Given the description of an element on the screen output the (x, y) to click on. 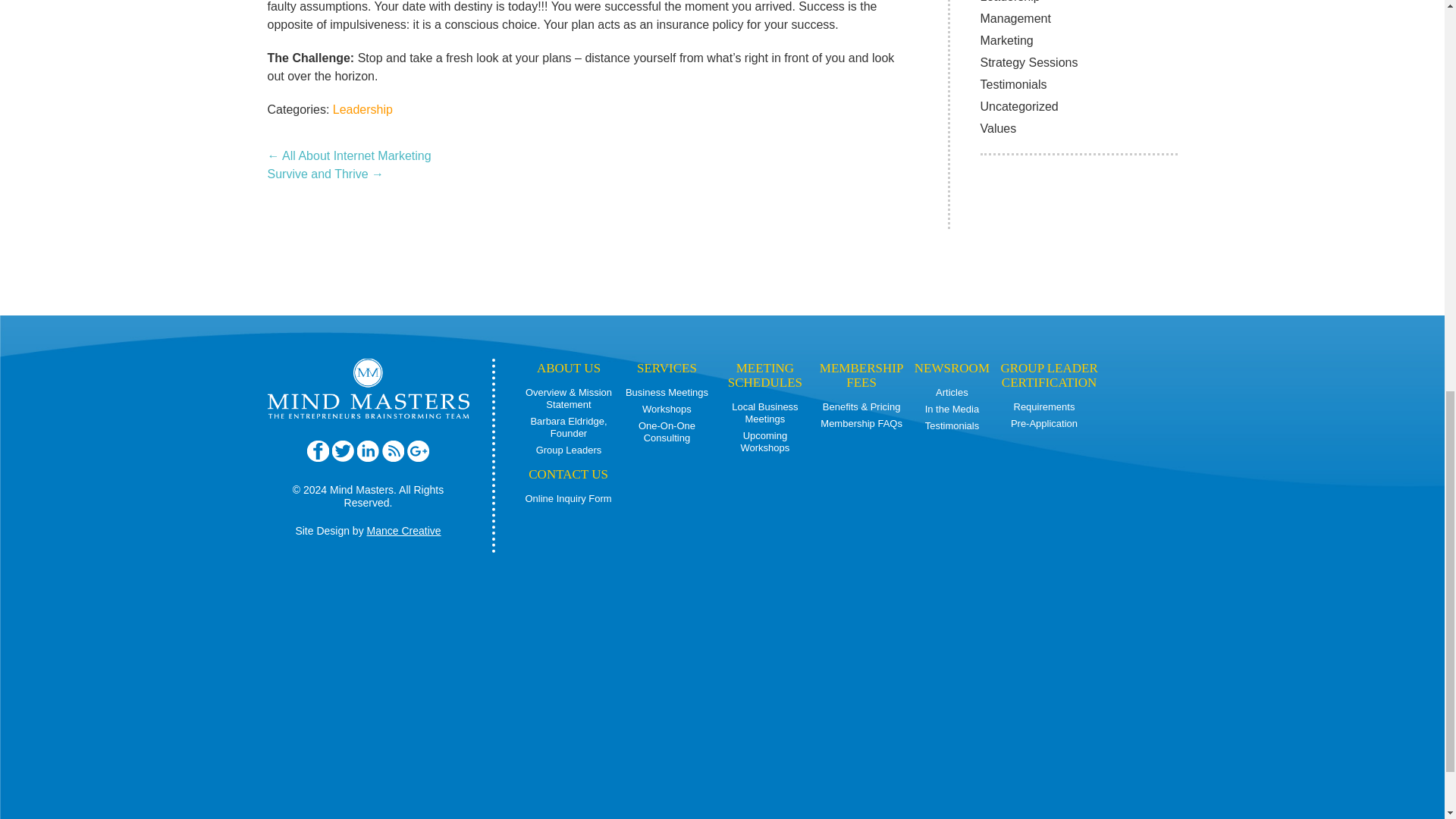
Management (1014, 18)
Leadership (1009, 1)
Leadership (363, 109)
